Given the description of an element on the screen output the (x, y) to click on. 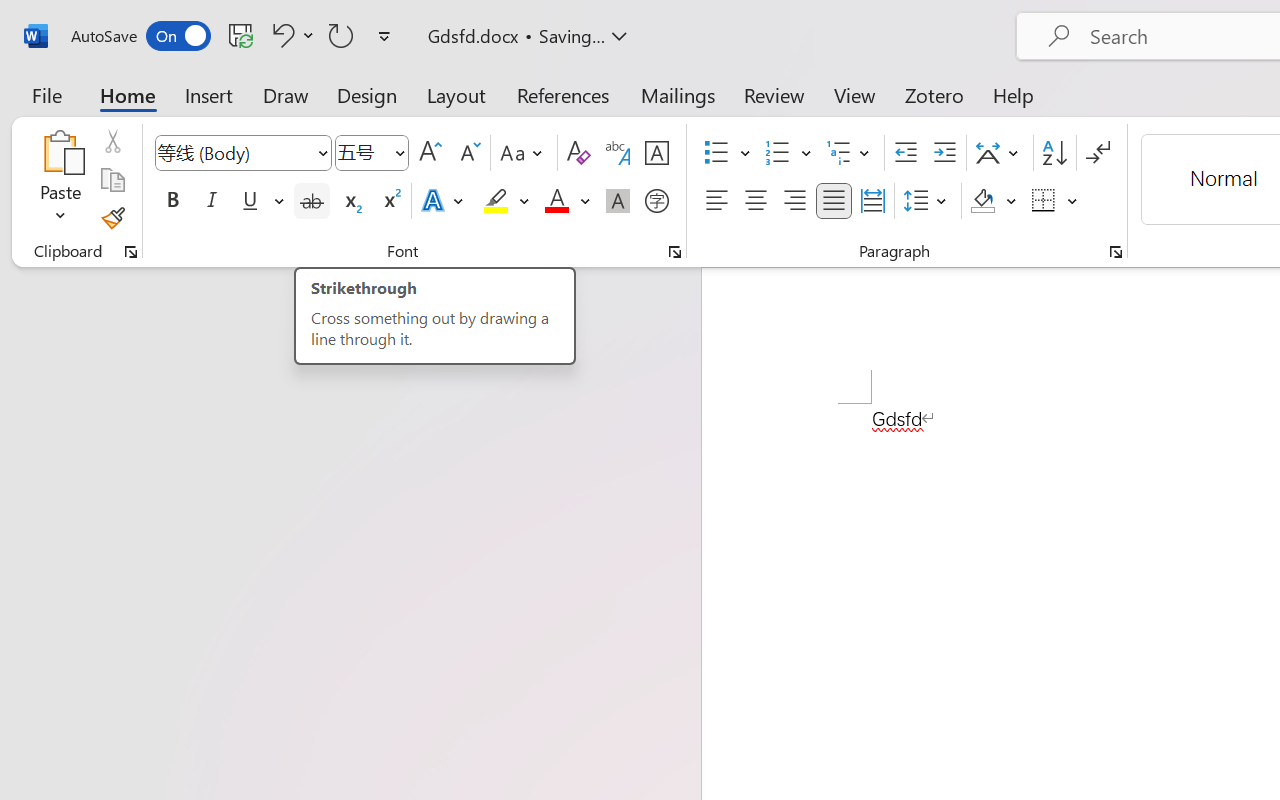
Undo Style (290, 35)
Strikethrough (312, 201)
Font... (675, 252)
Show/Hide Editing Marks (1098, 153)
Shading (993, 201)
Center (756, 201)
Grow Font (430, 153)
Phonetic Guide... (618, 153)
